Given the description of an element on the screen output the (x, y) to click on. 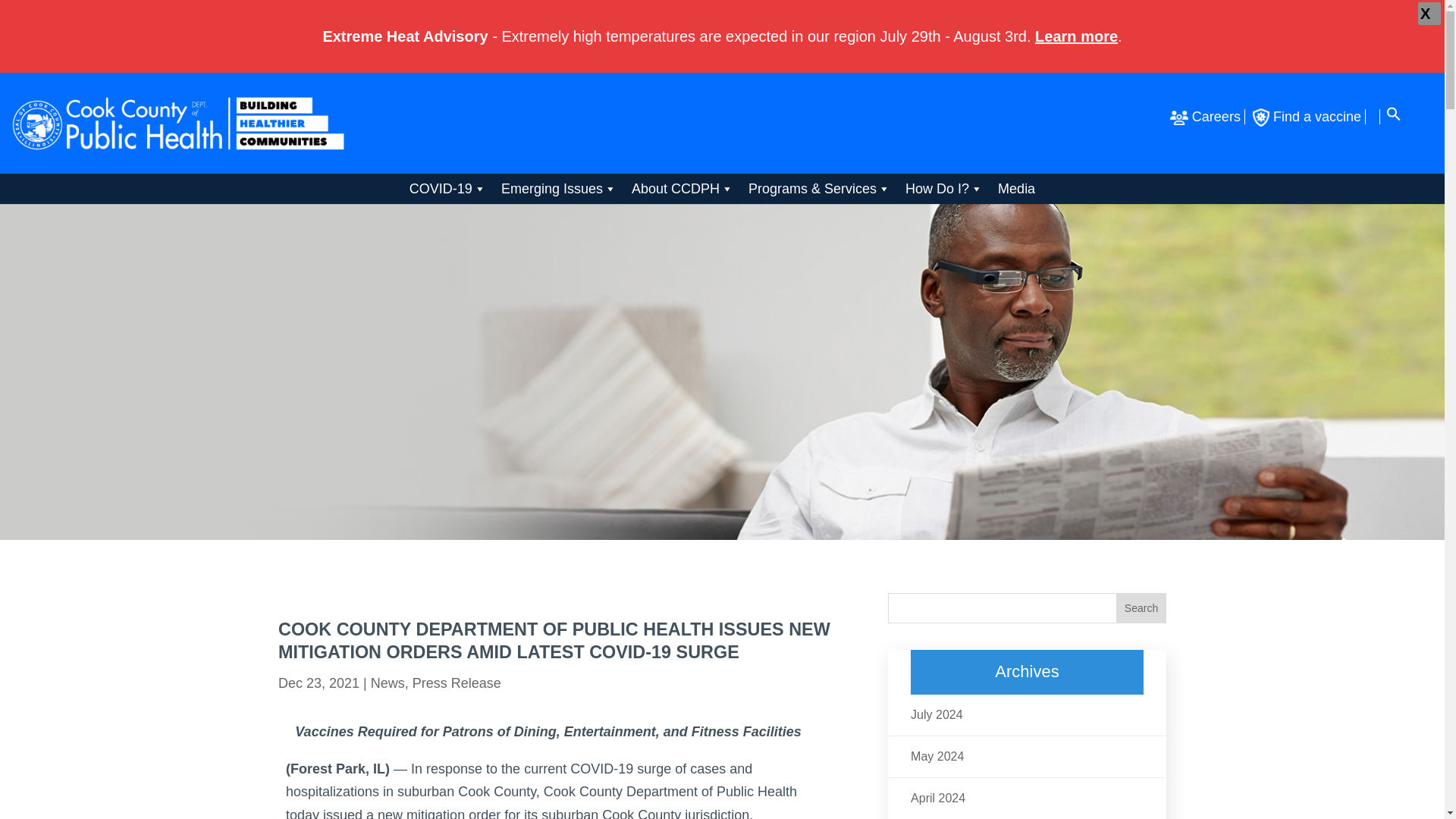
Learn more (1076, 36)
Search (1141, 607)
About CCDPH (682, 188)
Emerging Issues (558, 188)
COVID-19 (447, 188)
Careers (1207, 116)
Find a vaccine (1308, 116)
